Given the description of an element on the screen output the (x, y) to click on. 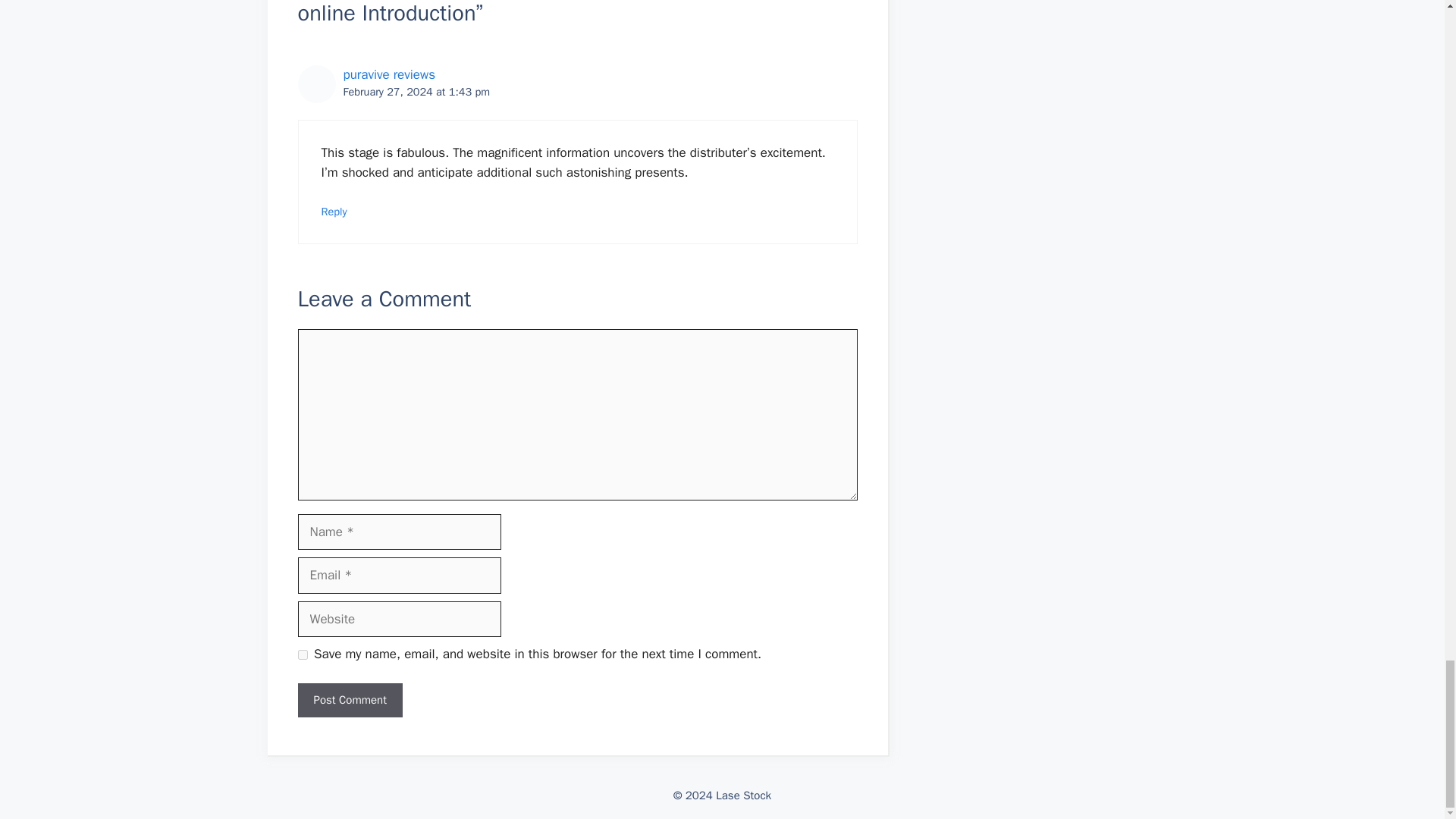
Post Comment (349, 700)
yes (302, 655)
February 27, 2024 at 1:43 pm (415, 91)
puravive reviews (388, 74)
Post Comment (349, 700)
Reply (334, 211)
